Given the description of an element on the screen output the (x, y) to click on. 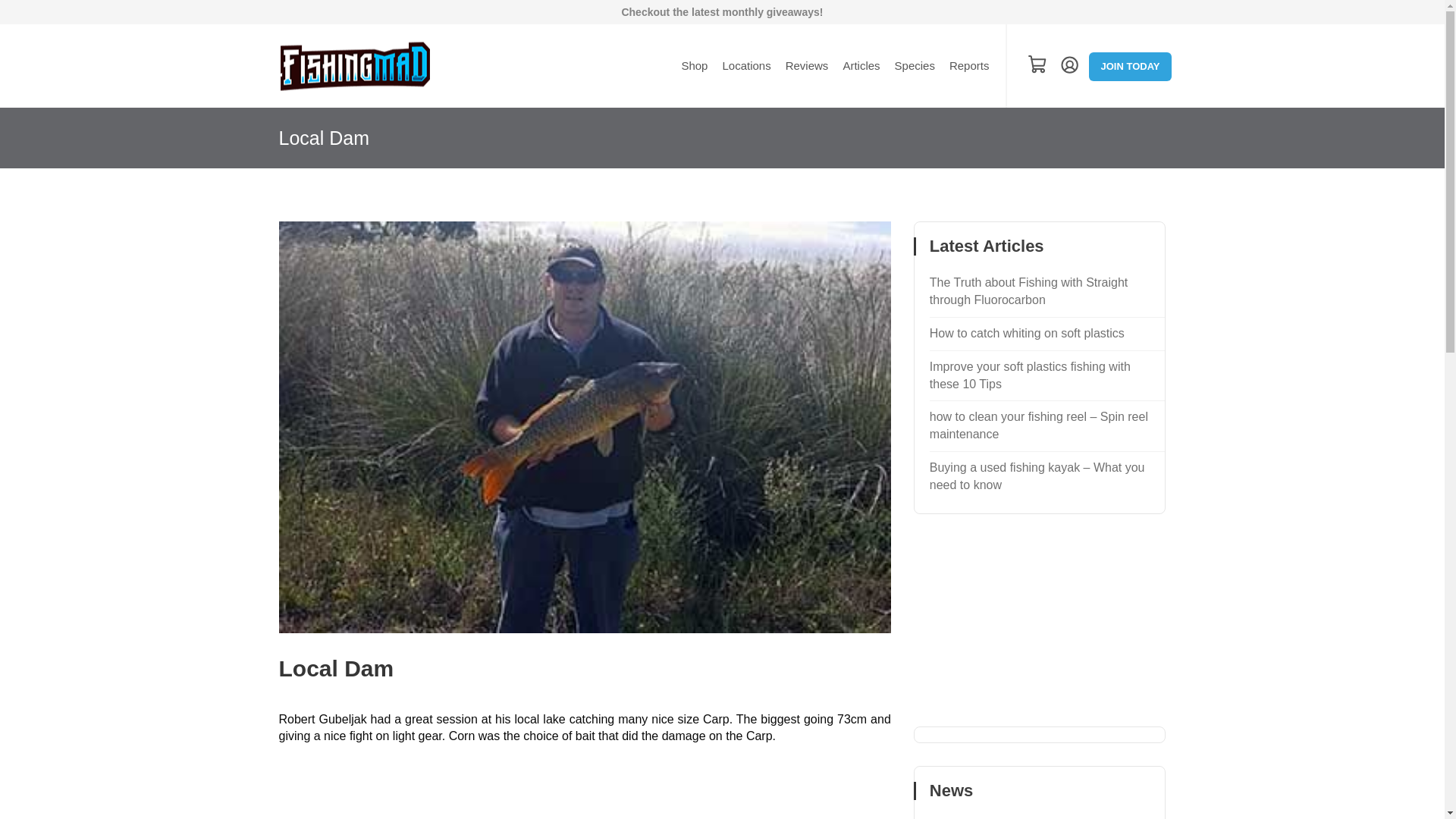
Advertisement Element type: hover (1039, 631)
The Truth about Fishing with Straight through Fluorocarbon Element type: text (1044, 295)
Reports Element type: text (969, 65)
Checkout the latest monthly giveaways! Element type: text (721, 12)
Improve your soft plastics fishing with these 10 Tips Element type: text (1044, 376)
Shop Element type: text (693, 65)
Local Dam Element type: text (336, 667)
Articles Element type: text (860, 65)
Locations Element type: text (745, 65)
Reviews Element type: text (806, 65)
How to catch whiting on soft plastics Element type: text (1044, 333)
JOIN TODAY Element type: text (1129, 66)
Species Element type: text (914, 65)
